Given the description of an element on the screen output the (x, y) to click on. 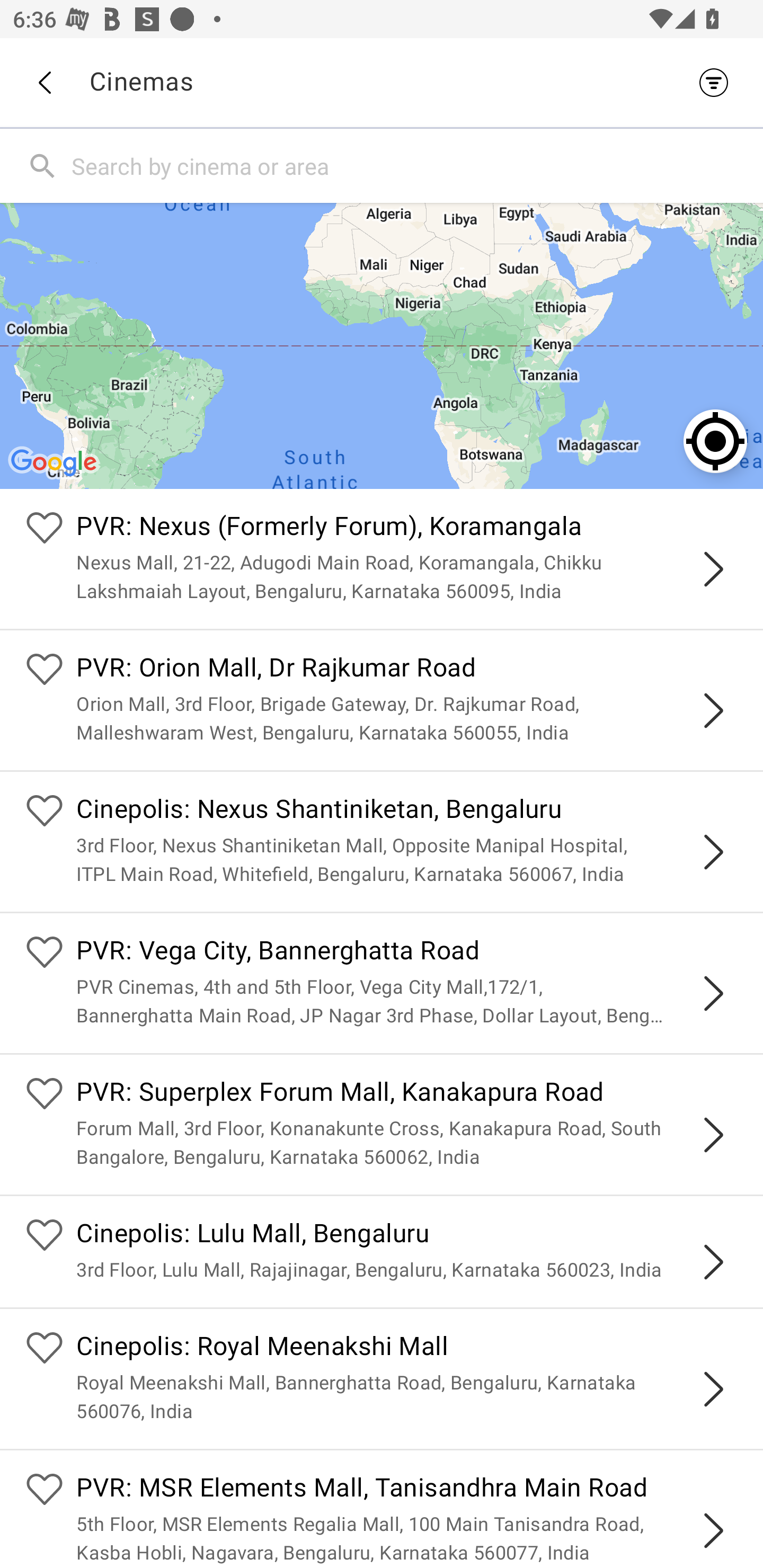
Back Cinemas Filter (381, 82)
Filter (718, 82)
Back (44, 82)
Search by cinema or area (413, 165)
Google Map (381, 345)
PVR: Nexus (Formerly Forum), Koramangala (406, 528)
 (713, 568)
PVR: Orion Mall, Dr Rajkumar Road (406, 669)
 (713, 710)
Cinepolis: Nexus Shantiniketan, Bengaluru (406, 810)
 (713, 851)
PVR: Vega City, Bannerghatta Road (406, 952)
 (713, 993)
PVR: Superplex Forum Mall, Kanakapura Road (406, 1094)
 (713, 1134)
Cinepolis: Lulu Mall, Bengaluru (406, 1235)
 (713, 1261)
Cinepolis: Royal Meenakshi Mall (406, 1348)
 (713, 1388)
PVR: MSR Elements Mall, Tanisandhra Main Road (406, 1489)
 (713, 1530)
